Given the description of an element on the screen output the (x, y) to click on. 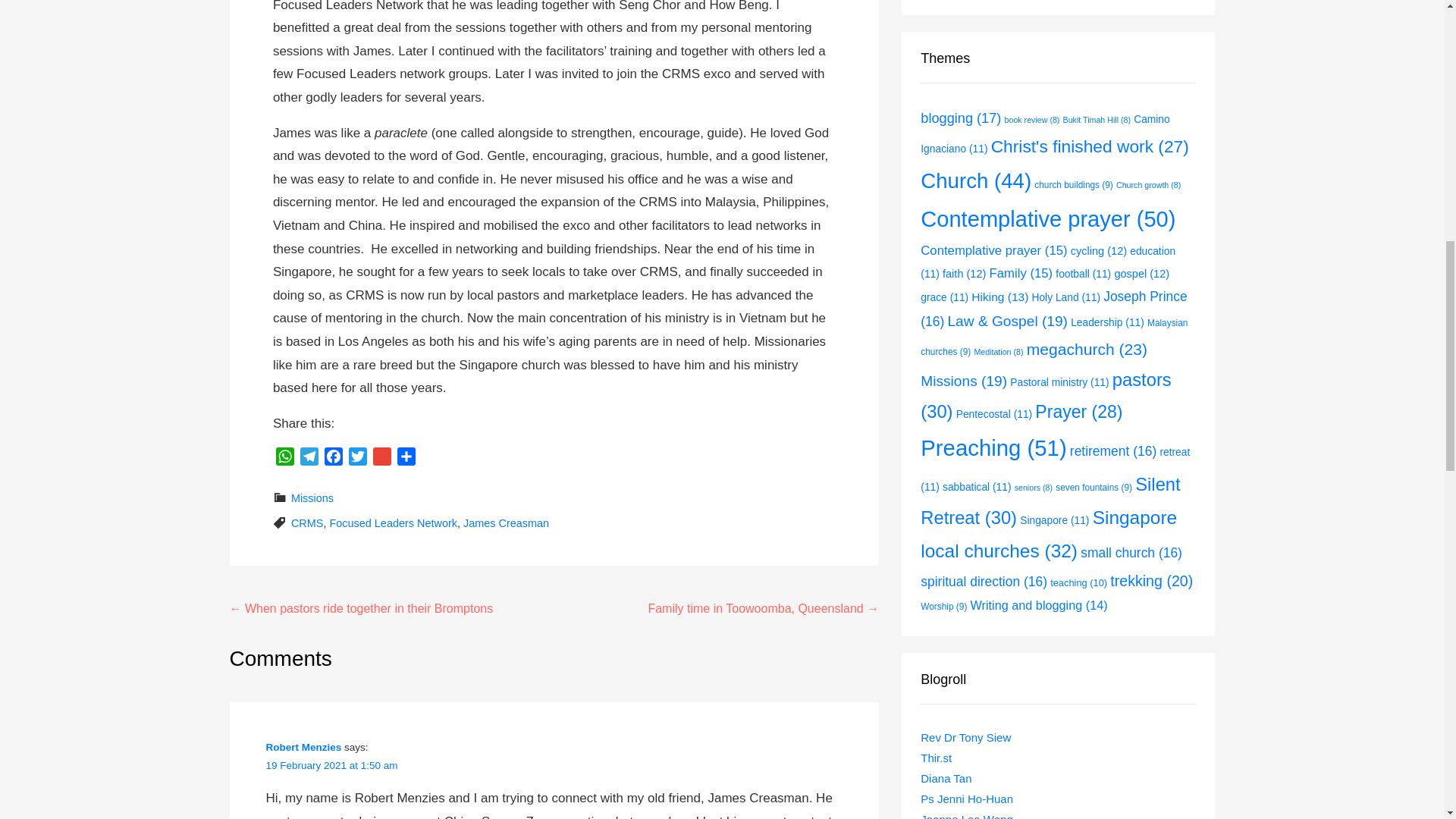
Telegram (309, 458)
Facebook (333, 458)
Twitter (357, 458)
Twitter (357, 458)
WhatsApp (285, 458)
Gmail (381, 458)
CRMS (307, 522)
Gmail (381, 458)
19 February 2021 at 1:50 am (330, 765)
Robert Menzies (302, 747)
